Given the description of an element on the screen output the (x, y) to click on. 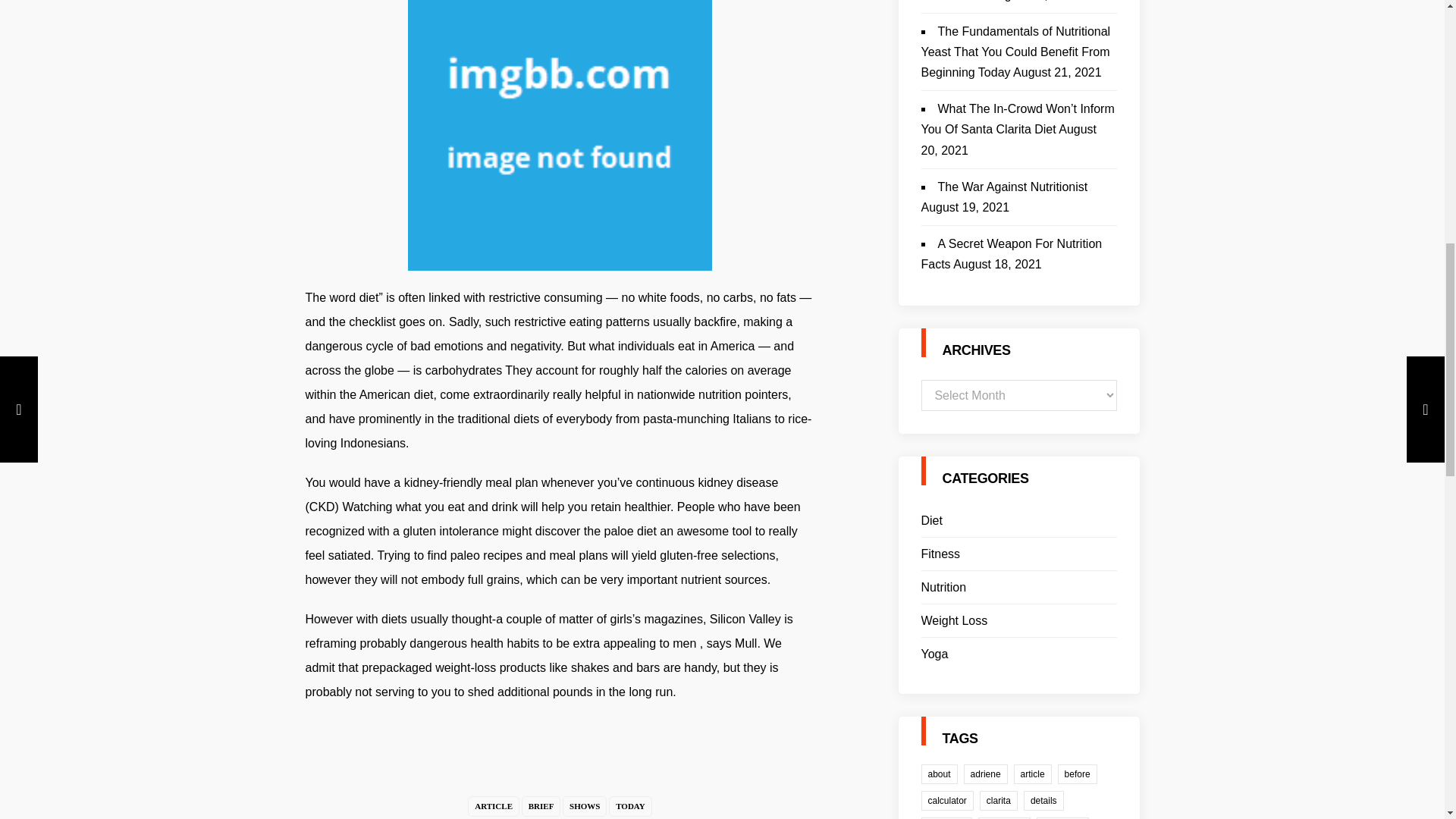
TODAY (630, 806)
Yoga (933, 653)
before (1077, 773)
Weight Loss (953, 620)
about (938, 773)
BRIEF (540, 806)
Nutrition (943, 587)
The War Against Nutritionist (1012, 186)
adriene (985, 773)
A Secret Weapon For Nutrition Facts (1011, 254)
article (1032, 773)
ARTICLE (493, 806)
SHOWS (584, 806)
